Given the description of an element on the screen output the (x, y) to click on. 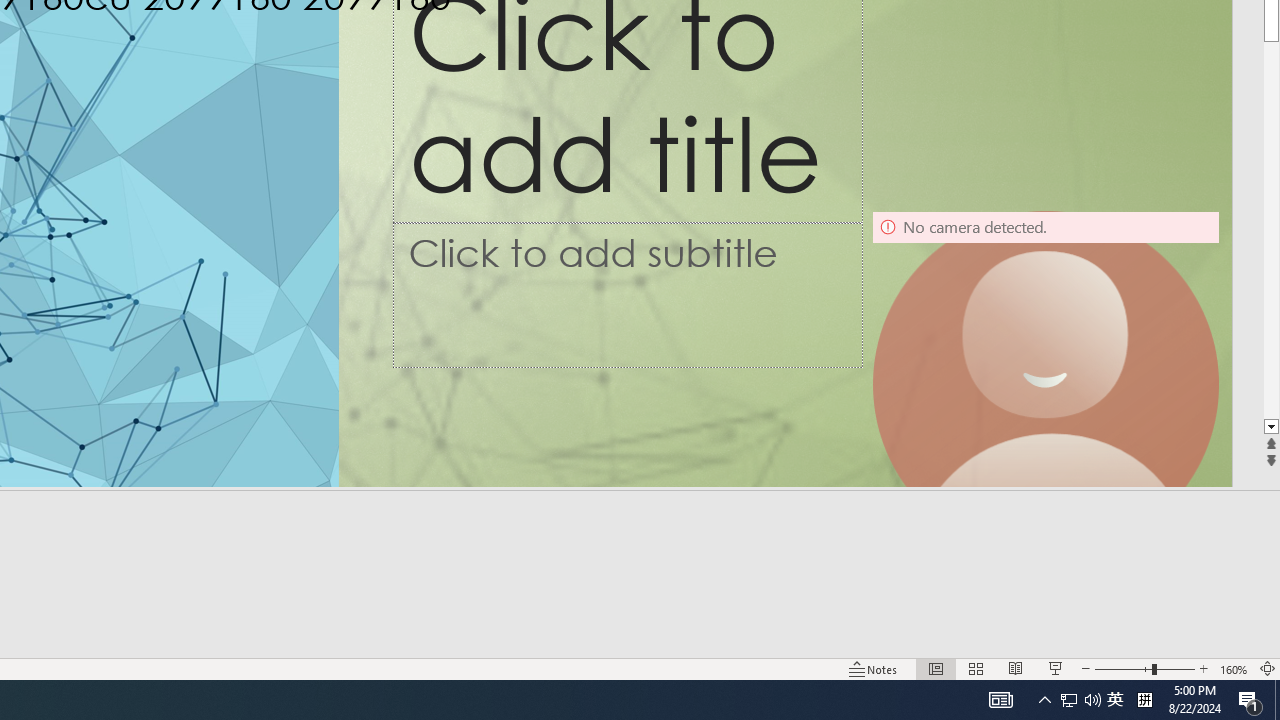
Subtitle TextBox (627, 294)
Zoom 160% (1234, 668)
Notes  (874, 668)
Camera 9, No camera detected. (1045, 384)
